Given the description of an element on the screen output the (x, y) to click on. 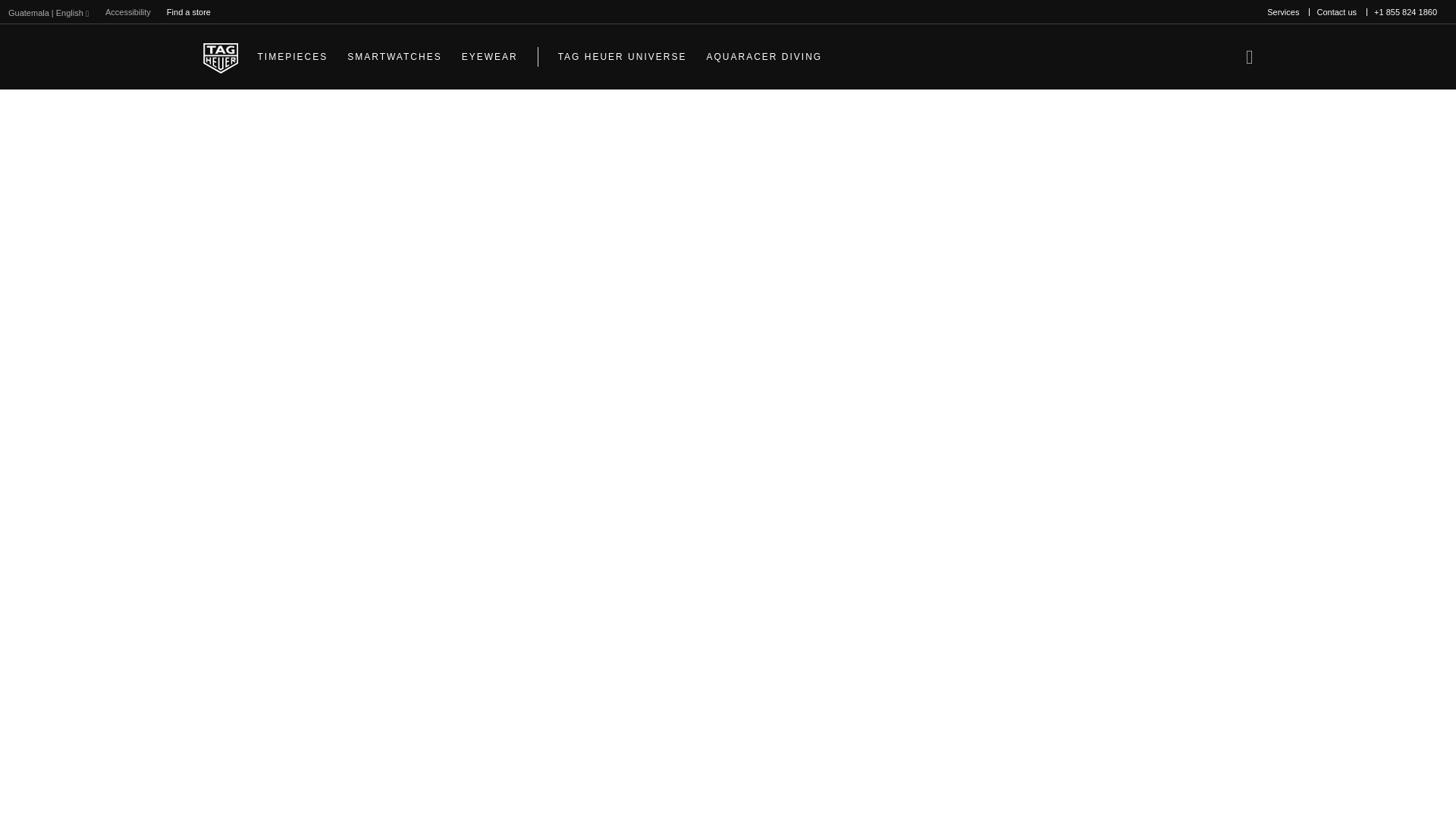
Contact us (1336, 12)
Homepage (220, 56)
TAG Heuer logo" (220, 56)
Accessibility (127, 12)
Find a store (188, 11)
Services (1282, 12)
TIMEPIECES (293, 56)
